Given the description of an element on the screen output the (x, y) to click on. 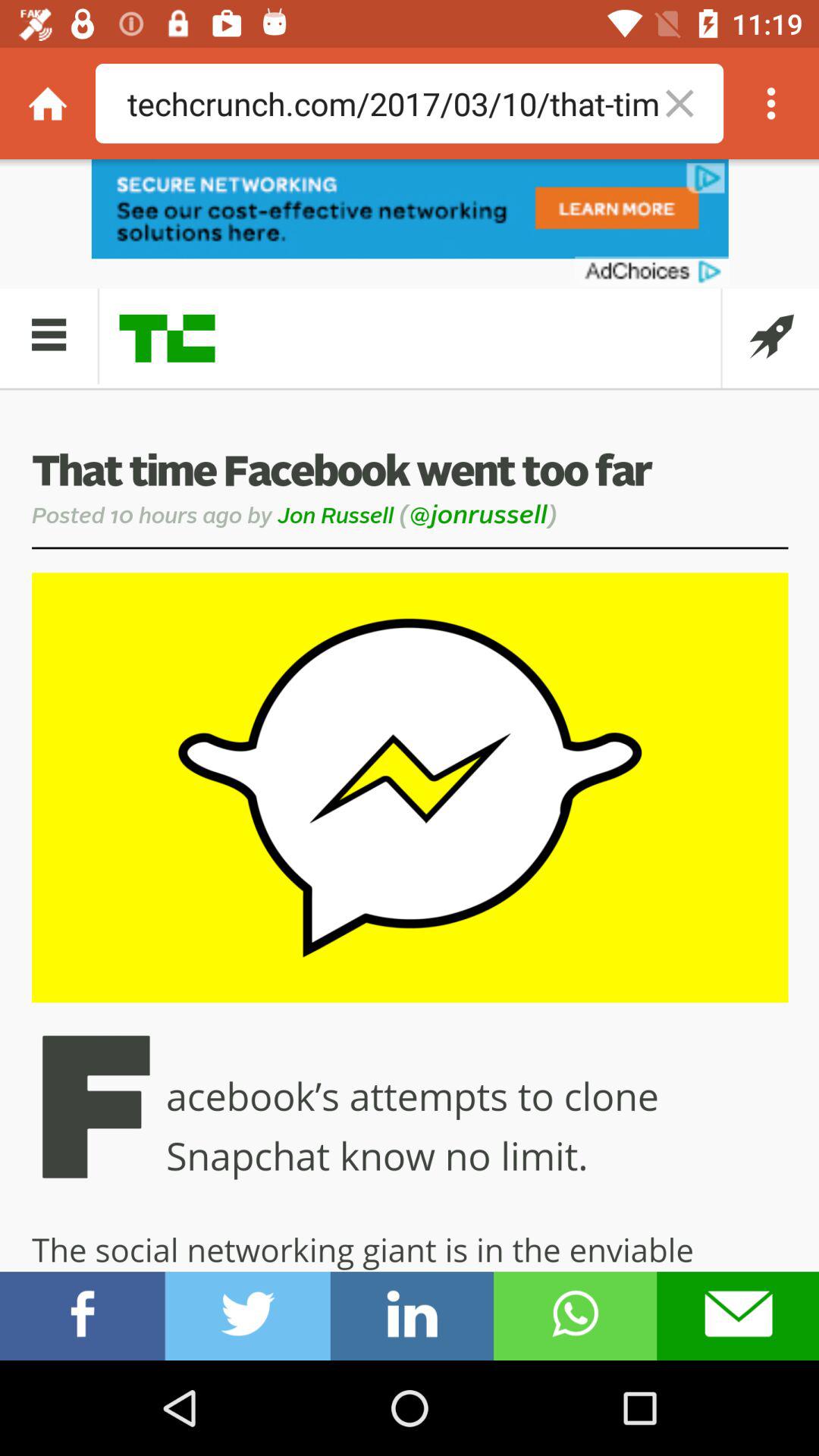
view browser settings (771, 103)
